Given the description of an element on the screen output the (x, y) to click on. 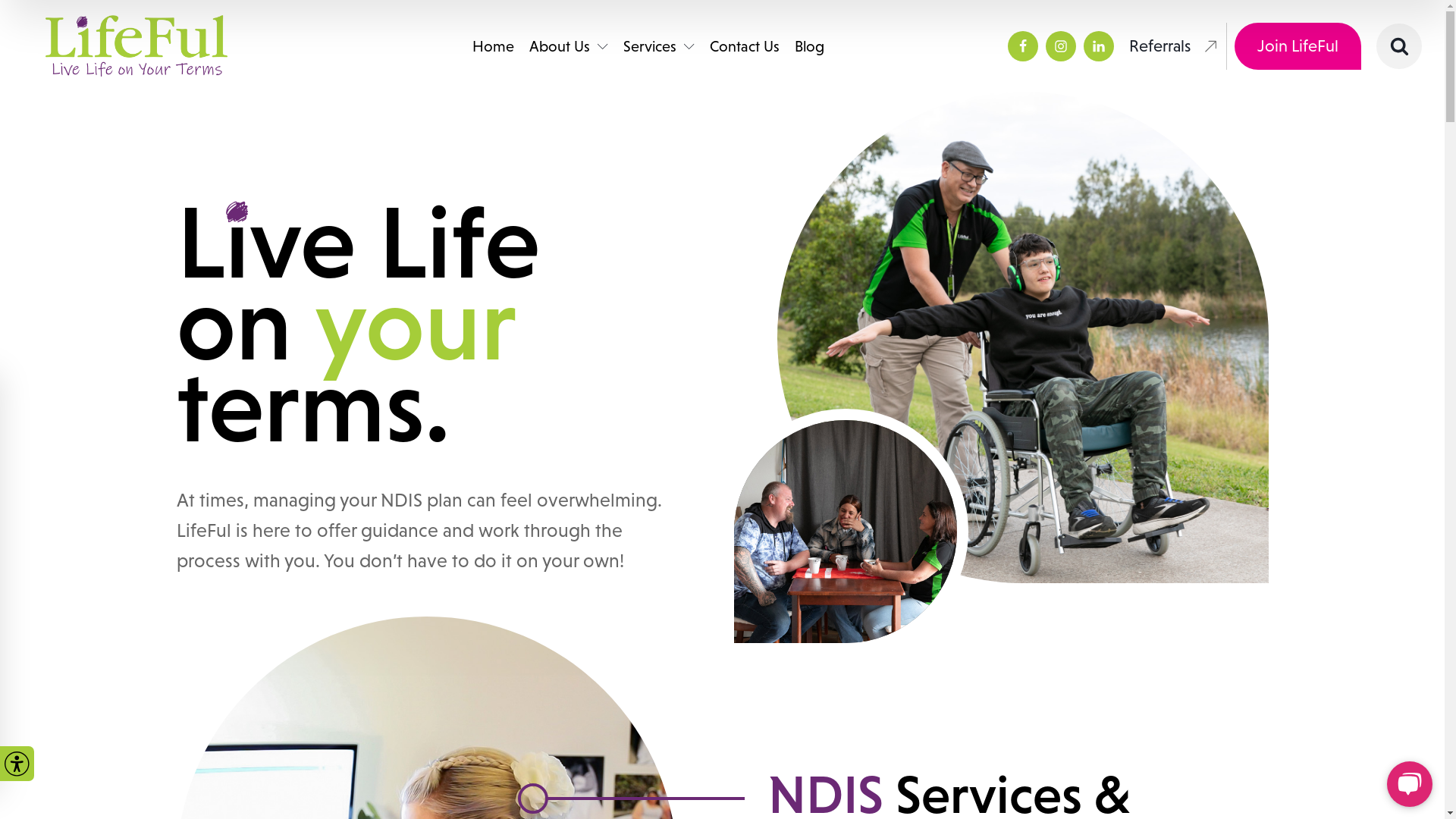
Join LifeFul Element type: text (1297, 45)
Search Element type: text (42, 10)
About Us Element type: text (568, 45)
Blog Element type: text (809, 45)
Home Element type: text (492, 45)
Referrals Element type: text (1173, 45)
Services Element type: text (658, 45)
Contact Us Element type: text (744, 45)
